Given the description of an element on the screen output the (x, y) to click on. 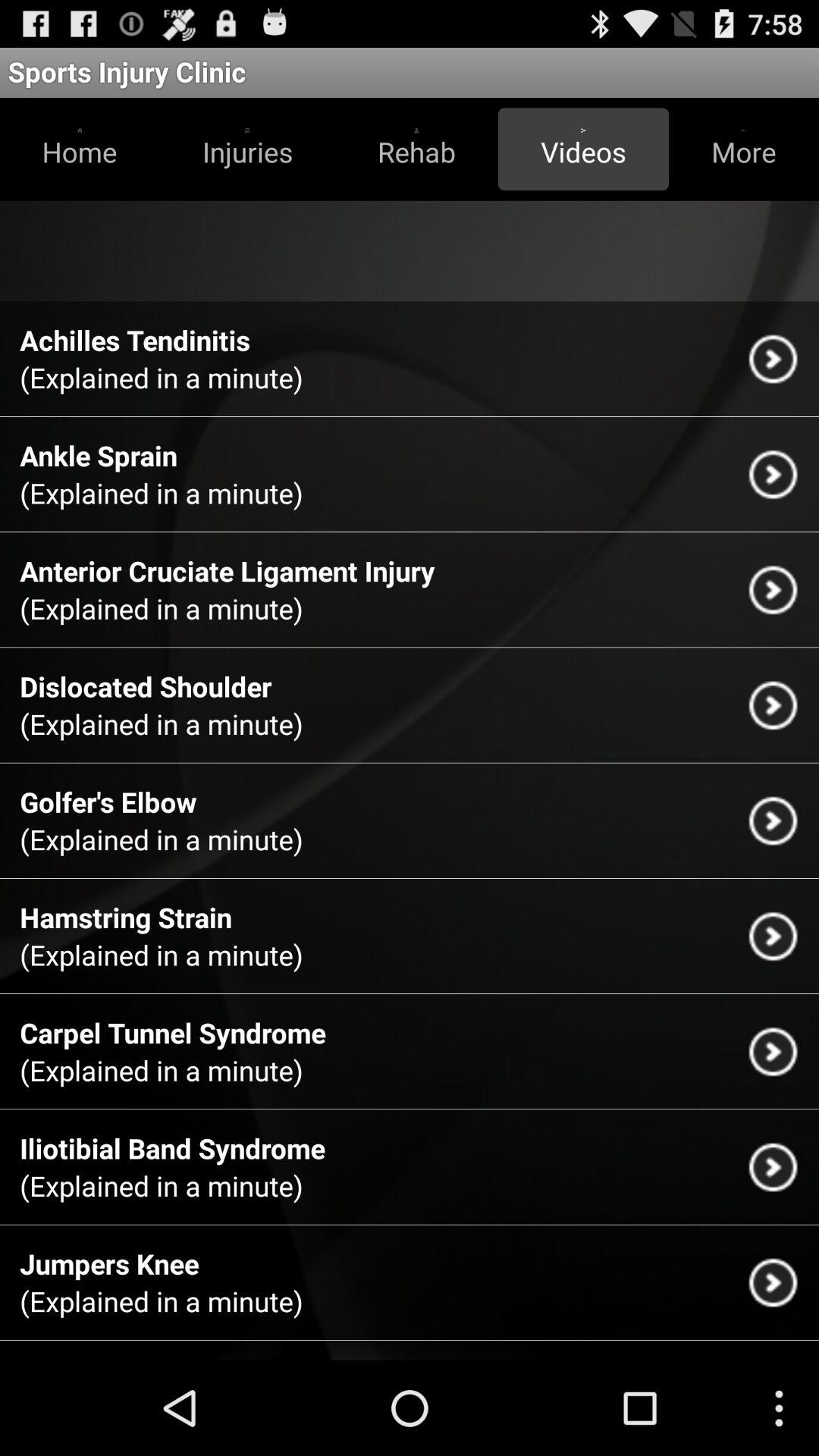
flip until anterior cruciate ligament icon (227, 570)
